Given the description of an element on the screen output the (x, y) to click on. 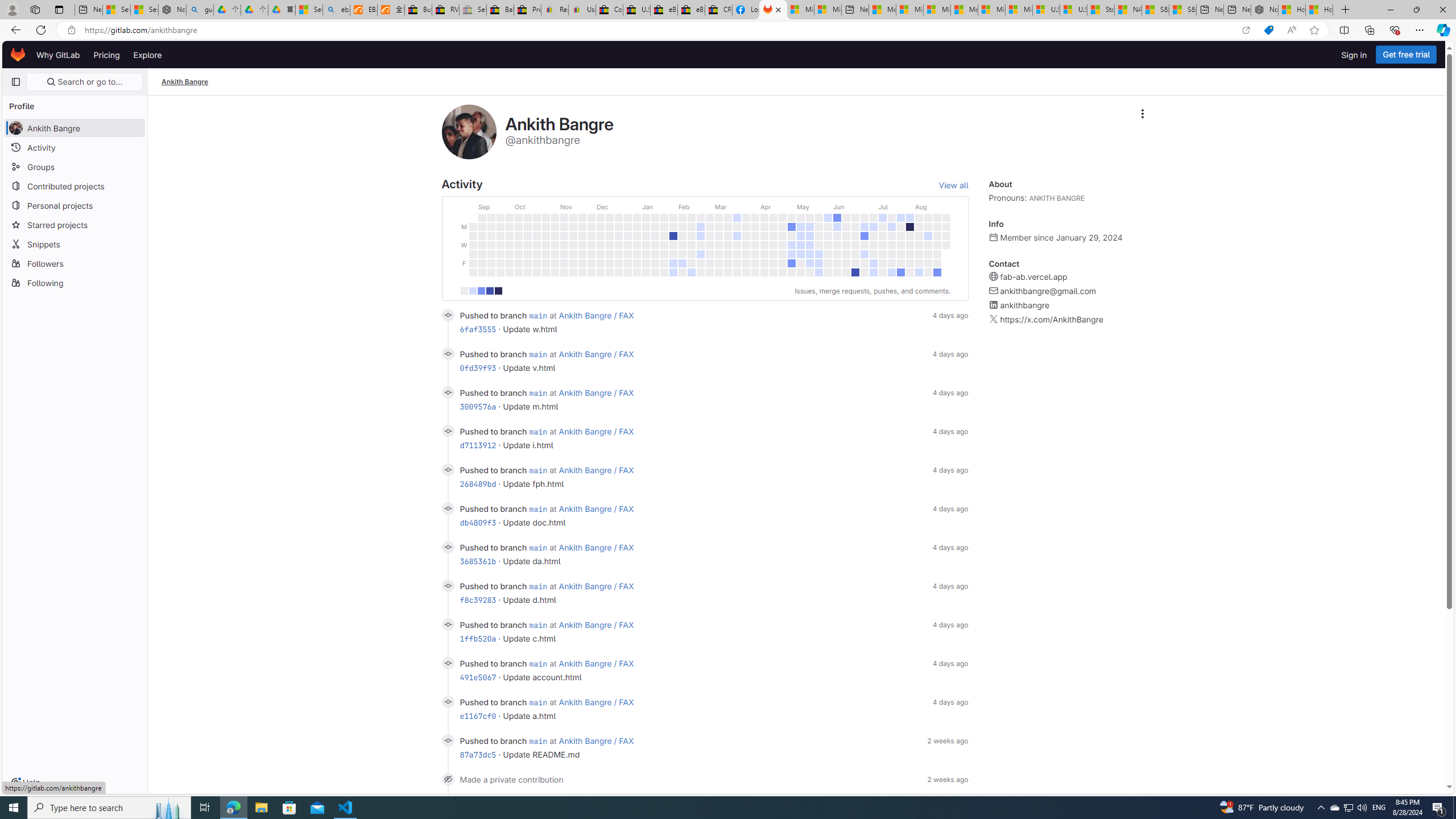
Followers (74, 262)
U.S. State Privacy Disclosures - eBay Inc. (636, 9)
